Given the description of an element on the screen output the (x, y) to click on. 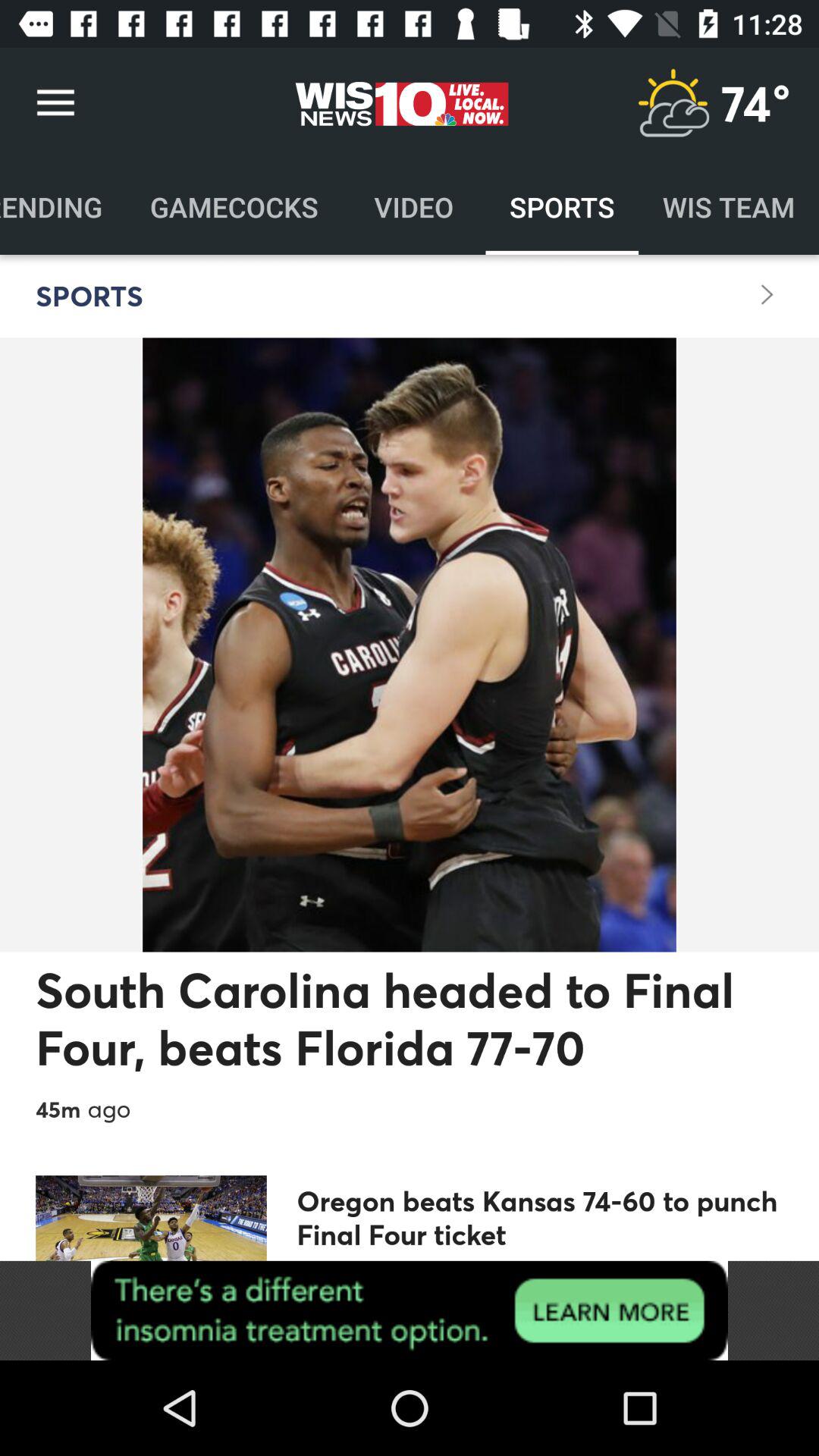
learn more (409, 1310)
